Given the description of an element on the screen output the (x, y) to click on. 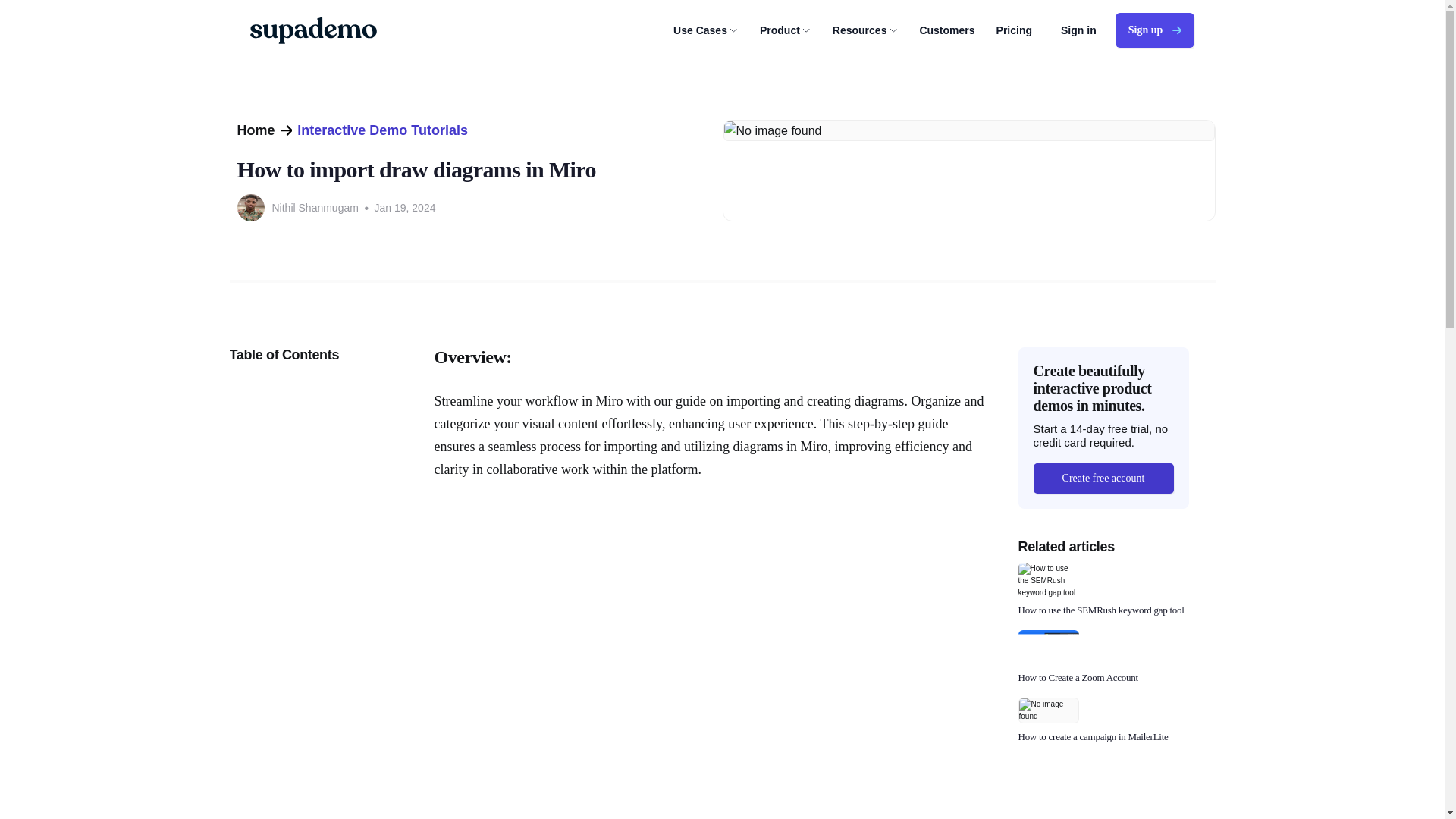
Resources (865, 30)
Customers (946, 30)
Sign in (1077, 30)
Sign up (1154, 30)
Product (785, 30)
Pricing (1013, 30)
Use Cases (705, 30)
